Given the description of an element on the screen output the (x, y) to click on. 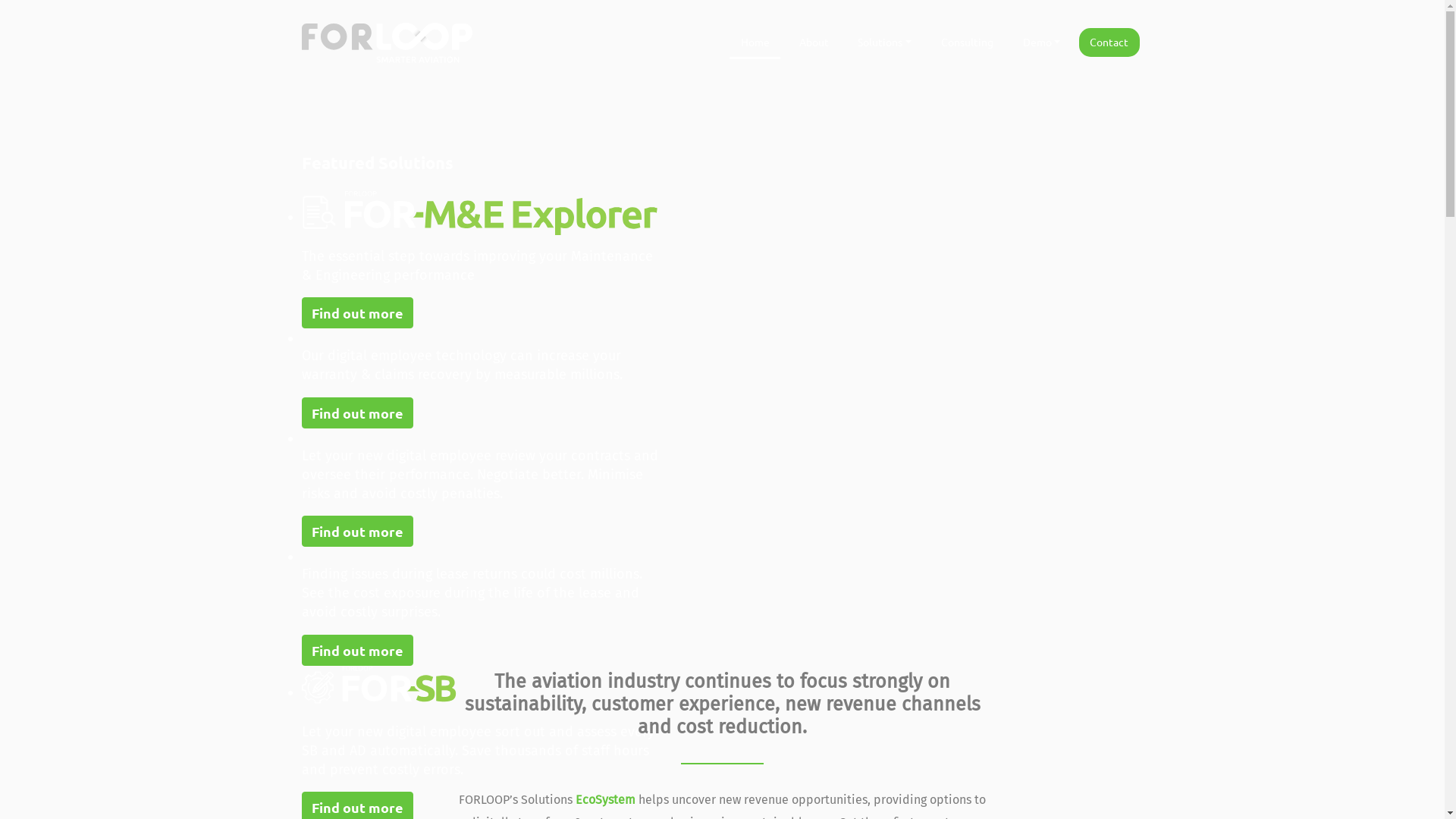
EcoSystem Element type: text (605, 799)
Find out more Element type: text (357, 312)
Find out more Element type: text (357, 649)
Find out more Element type: text (357, 530)
Consulting Element type: text (966, 42)
About Element type: text (813, 42)
Find out more Element type: text (357, 412)
Contact Element type: text (1109, 42)
Solutions Element type: text (884, 42)
Home Element type: text (754, 43)
Demo Element type: text (1040, 42)
